Given the description of an element on the screen output the (x, y) to click on. 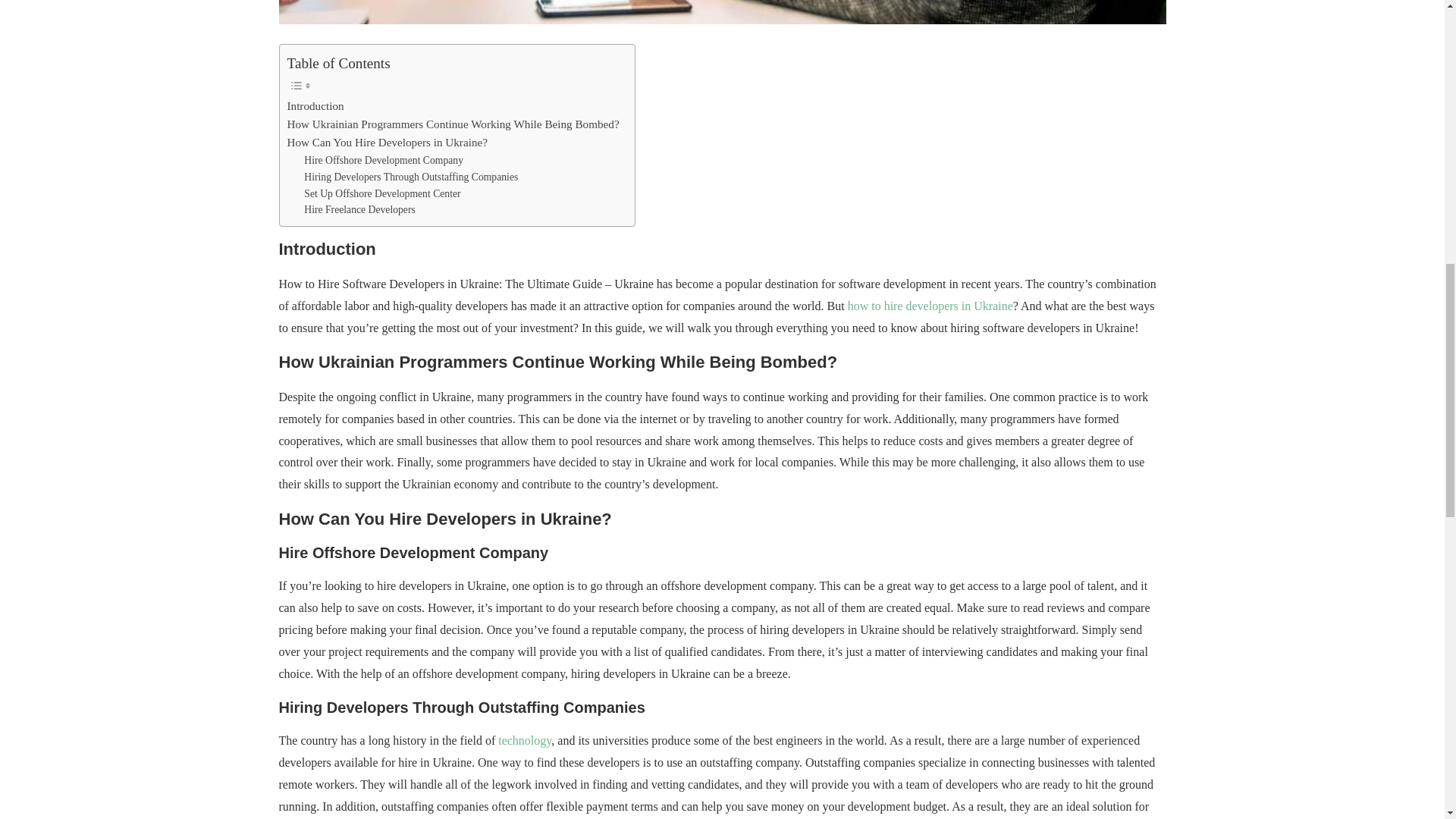
Hire Offshore Development Company (383, 160)
How Can You Hire Developers in Ukraine? (386, 142)
Hiring Developers Through Outstaffing Companies (411, 176)
Hire Freelance Developers (359, 209)
Introduction (314, 106)
Set Up Offshore Development Center (382, 193)
